Given the description of an element on the screen output the (x, y) to click on. 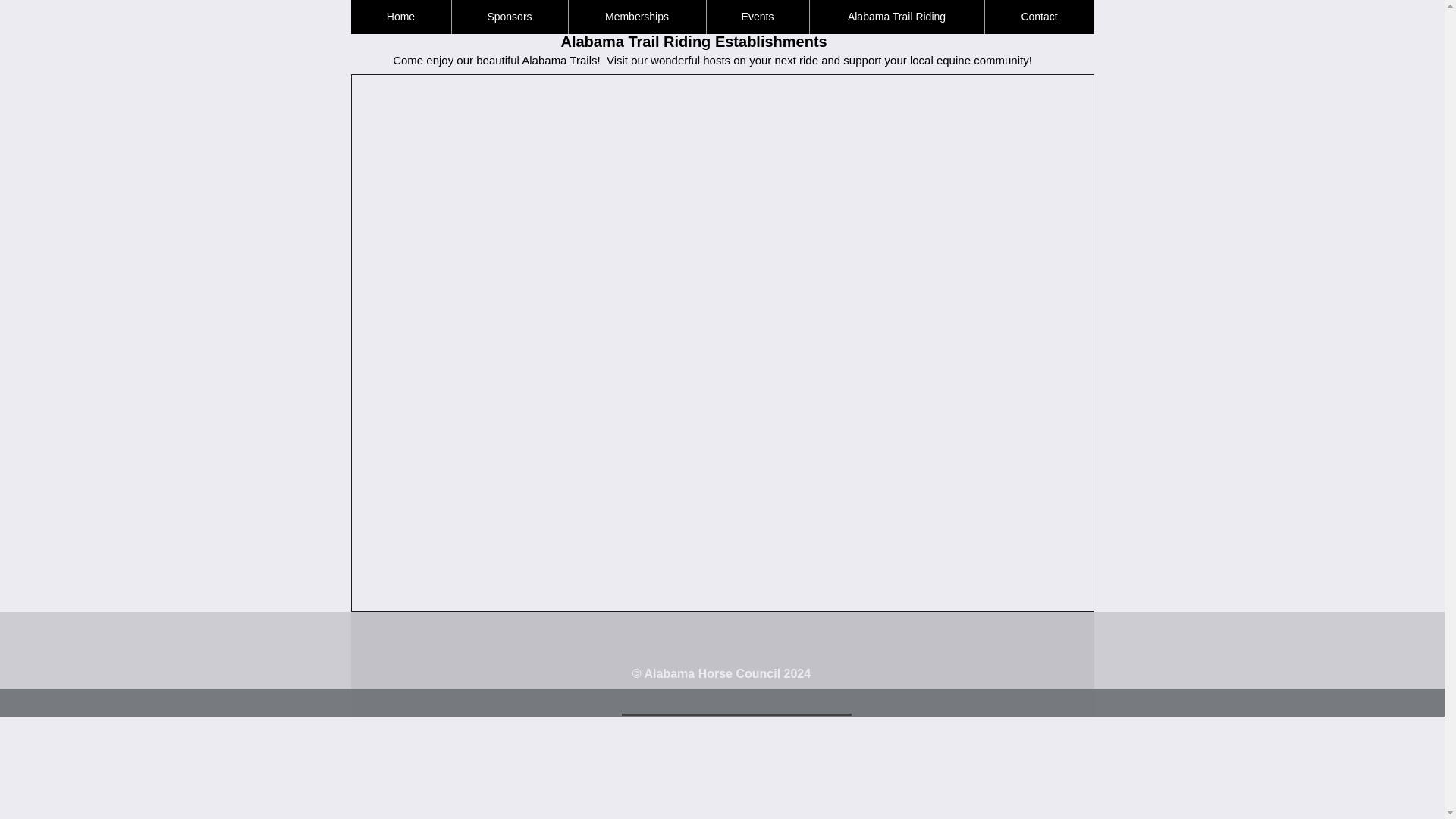
Memberships (635, 17)
Sponsors (508, 17)
Alabama Trail Riding (896, 17)
Home (399, 17)
Events (756, 17)
Contact (1039, 17)
